Given the description of an element on the screen output the (x, y) to click on. 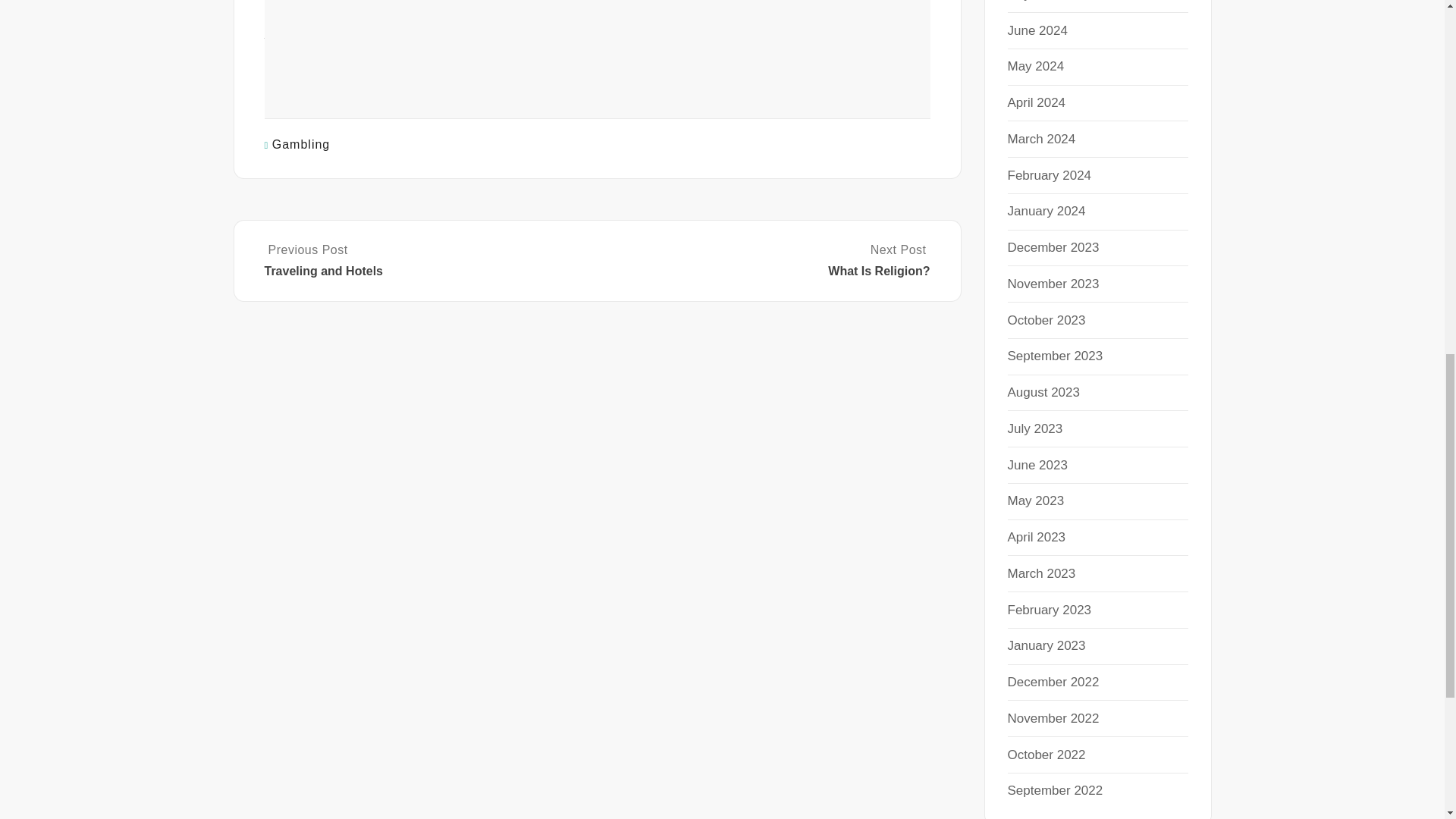
March 2023 (1041, 573)
February 2023 (1048, 608)
April 2024 (1036, 102)
January 2024 (1045, 210)
July 2024 (1034, 0)
April 2023 (1036, 536)
Gambling (301, 144)
October 2023 (1045, 319)
July 2023 (1034, 428)
May 2024 (1035, 65)
August 2023 (1042, 391)
February 2024 (1048, 175)
June 2023 (1037, 464)
September 2023 (1054, 355)
March 2024 (1041, 138)
